Given the description of an element on the screen output the (x, y) to click on. 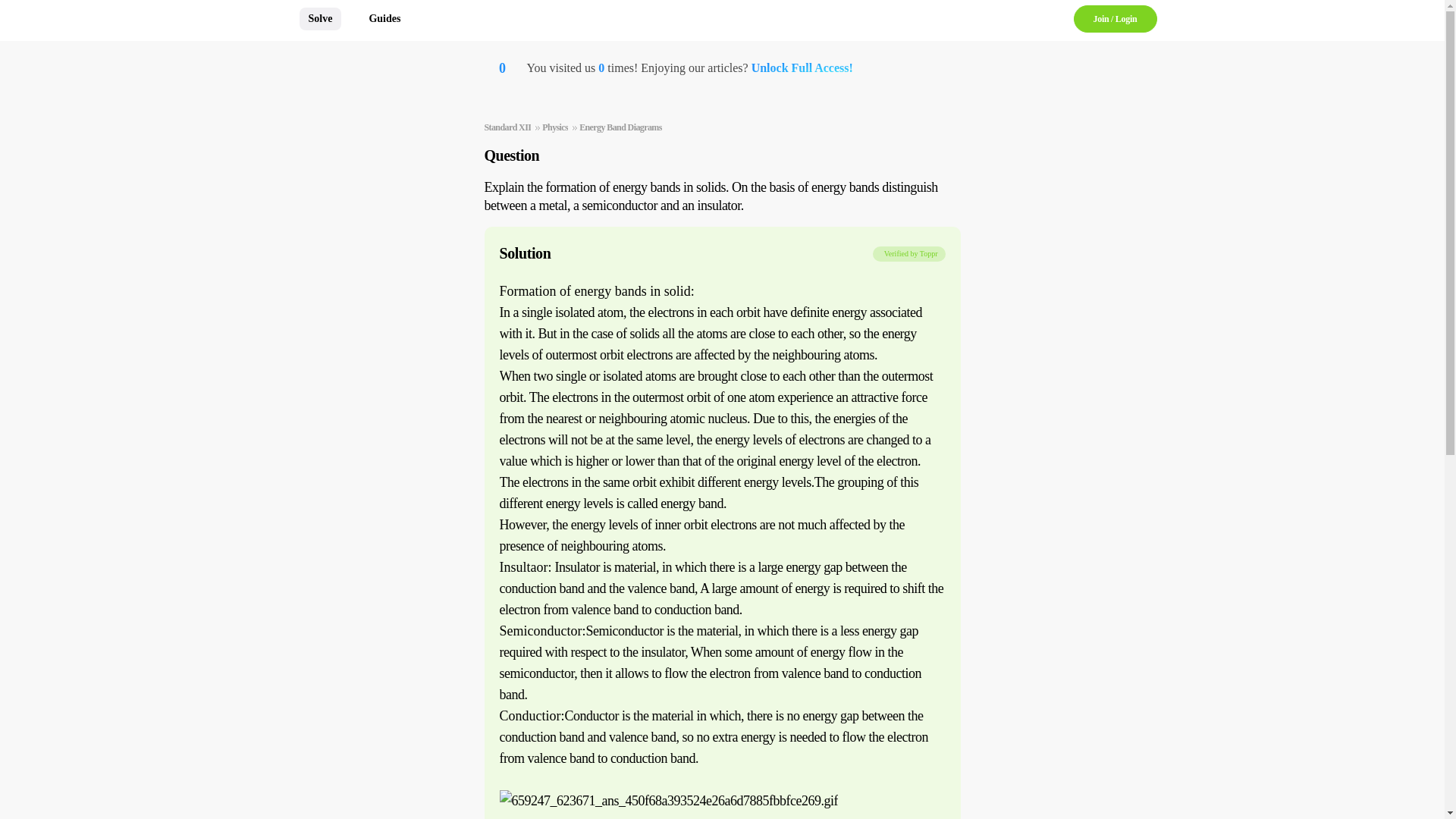
Physics (554, 126)
Energy Band Diagrams (620, 126)
Standard XII (507, 126)
